Given the description of an element on the screen output the (x, y) to click on. 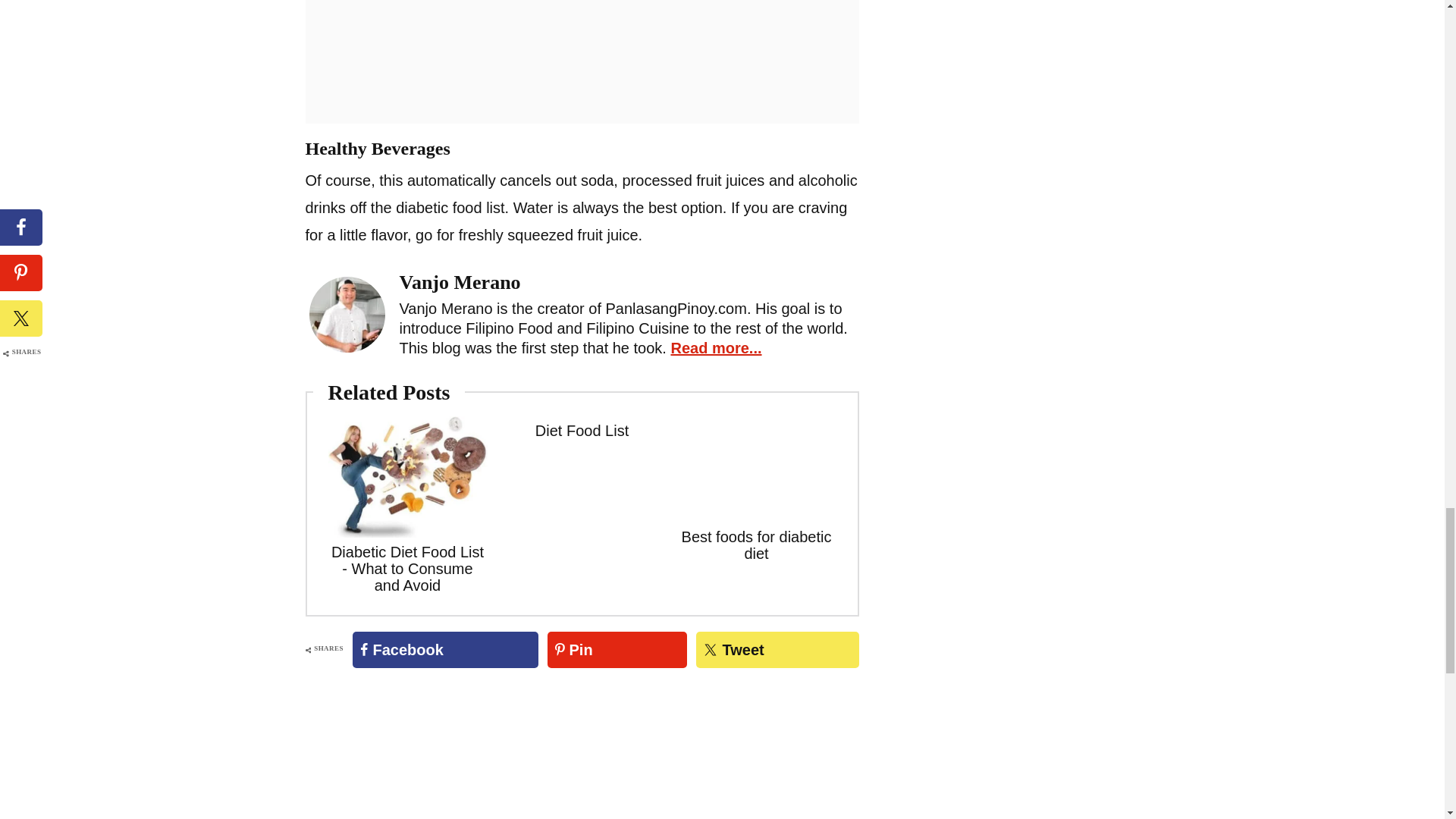
Share on Pinterest (617, 649)
Share on Facebook (445, 649)
Share on Twitter (777, 649)
